Given the description of an element on the screen output the (x, y) to click on. 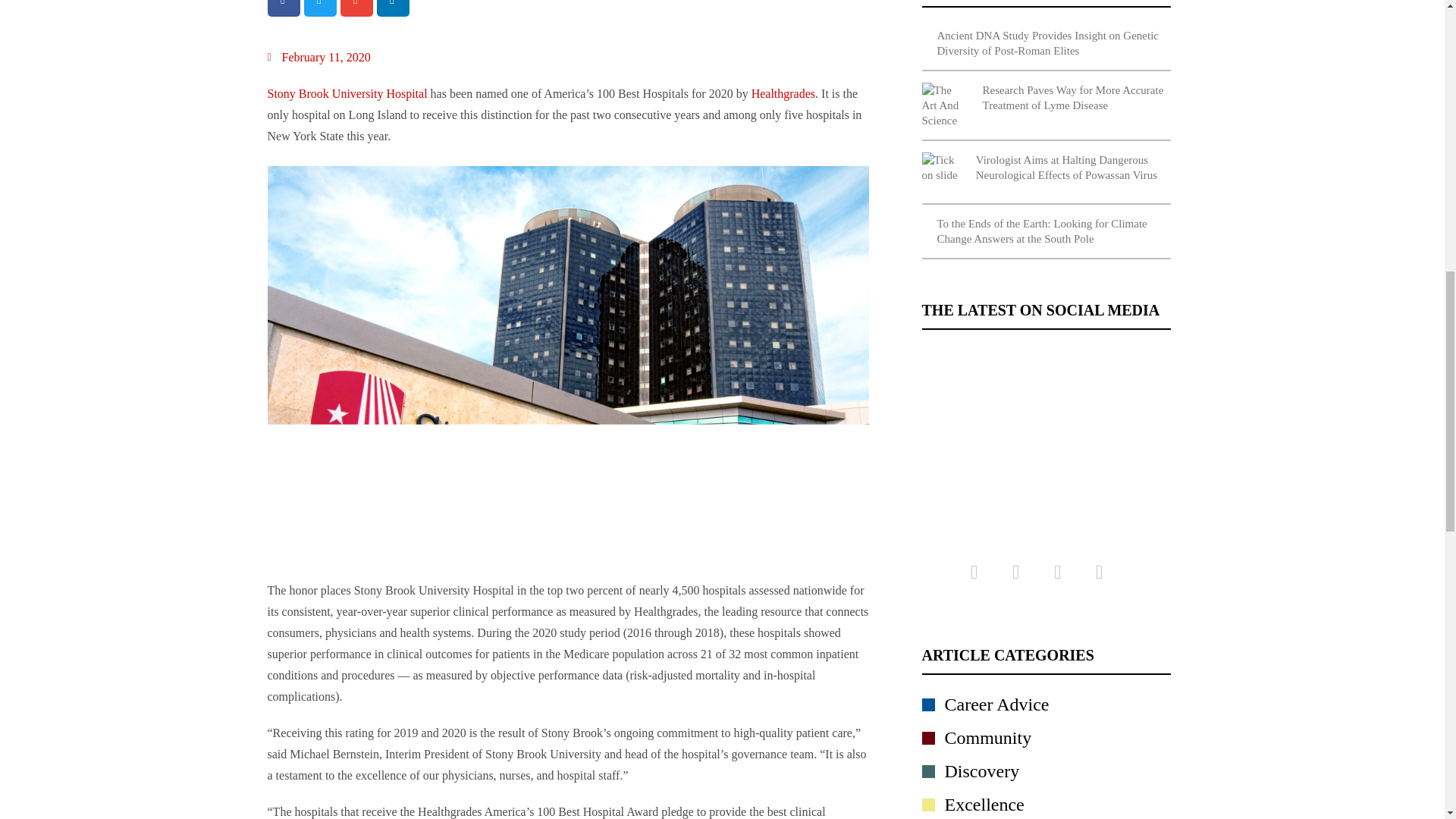
 Healthgrades (781, 92)
Stony Brook University Hospital (346, 92)
February 11, 2020 (317, 56)
